Given the description of an element on the screen output the (x, y) to click on. 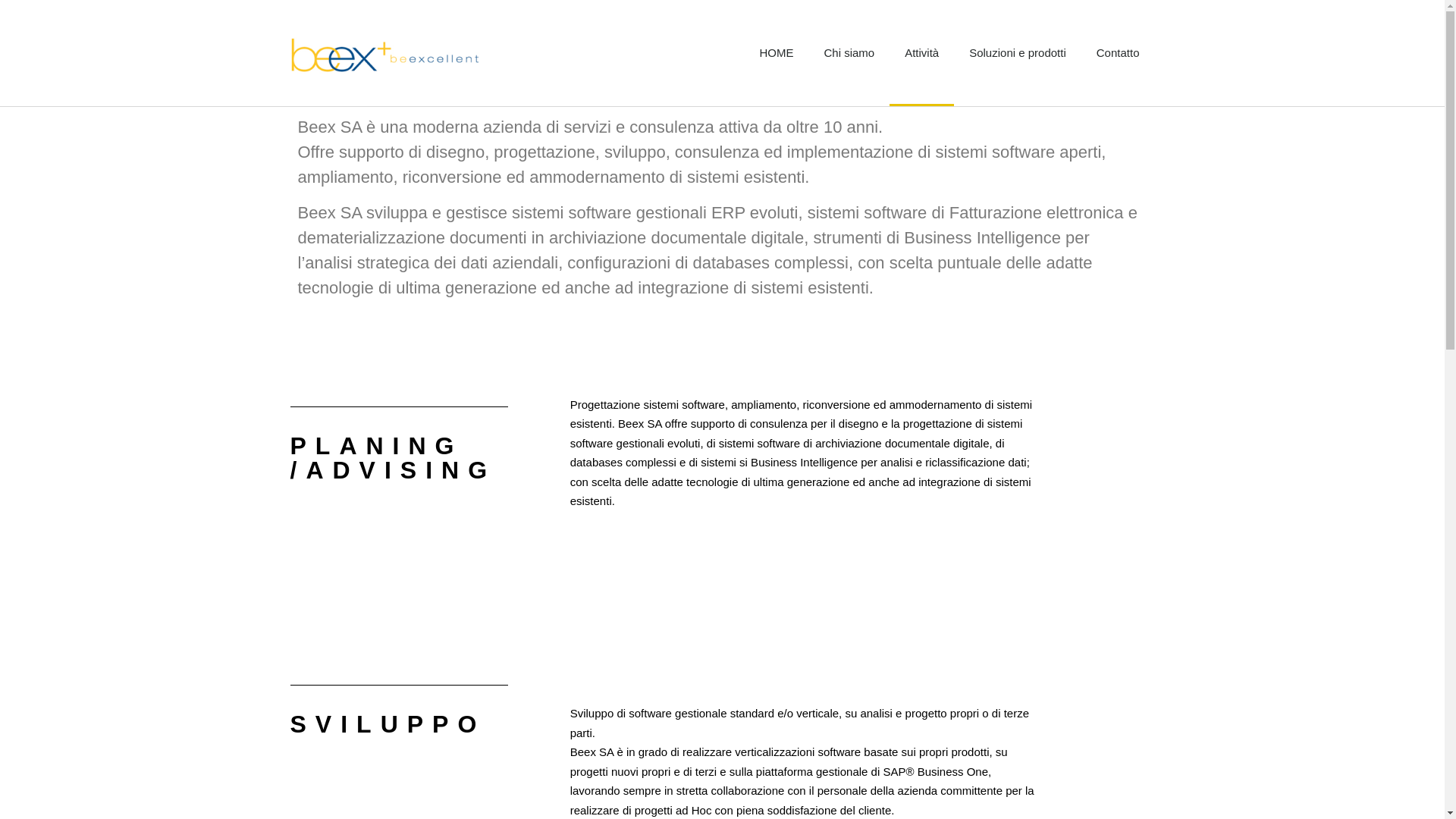
Contatto Element type: text (1117, 53)
HOME Element type: text (775, 53)
Soluzioni e prodotti Element type: text (1017, 53)
Chi siamo Element type: text (848, 53)
